Given the description of an element on the screen output the (x, y) to click on. 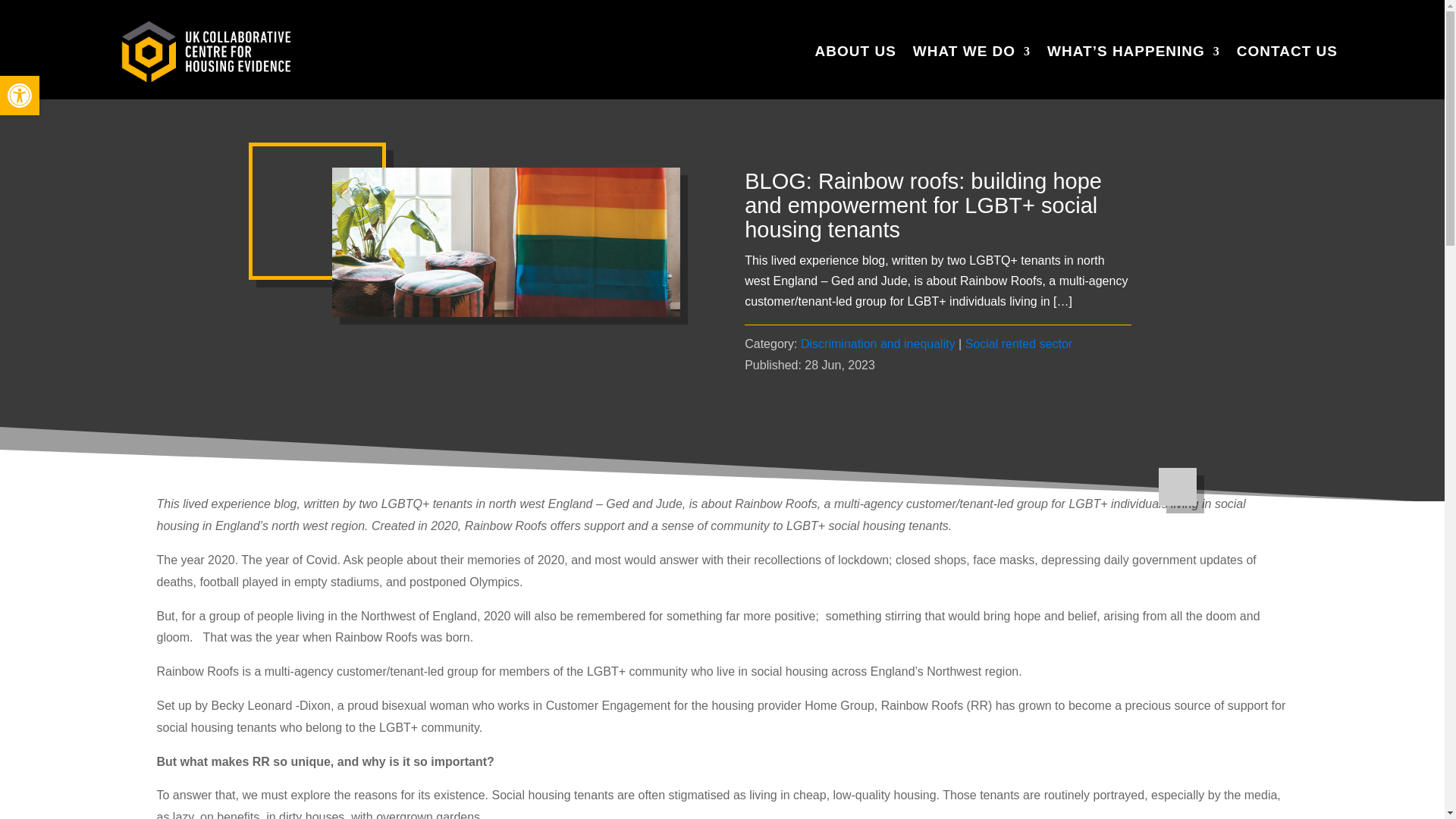
Accessibility Tools (19, 95)
WHAT WE DO (19, 95)
ABOUT US (971, 51)
Social rented sector (855, 51)
Discrimination and inequality (1018, 343)
Accessibility Tools (877, 343)
CONTACT US (19, 95)
